Given the description of an element on the screen output the (x, y) to click on. 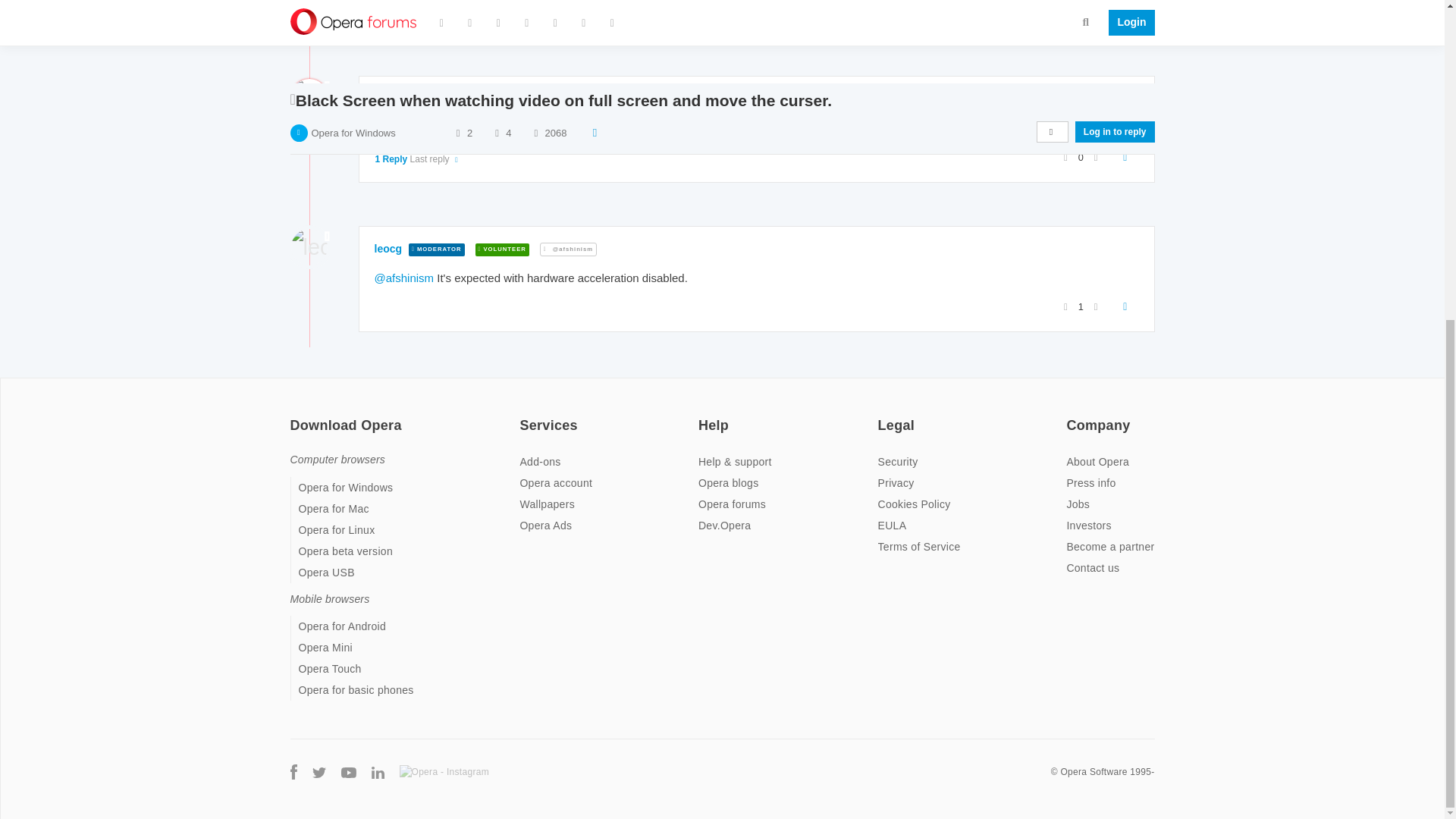
on (523, 415)
on (702, 415)
on (293, 415)
on (881, 415)
on (1070, 415)
